Given the description of an element on the screen output the (x, y) to click on. 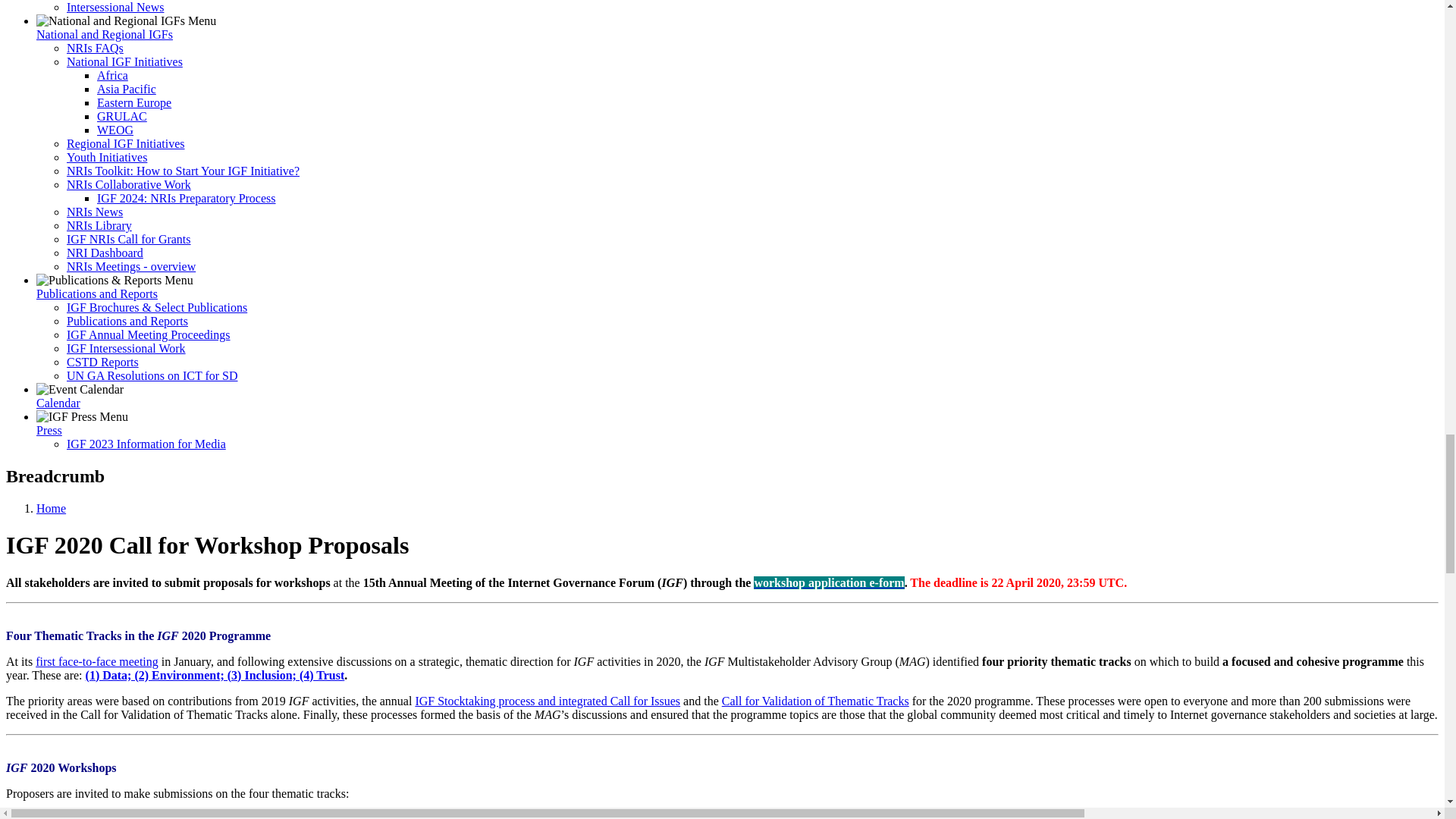
Internet Governance Forum  (583, 661)
Internet Governance Forum  (671, 582)
Internet Governance Forum  (714, 661)
Multistakeholder Advisory Group  (547, 714)
Internet Governance Forum  (16, 767)
Internet Governance Forum  (298, 700)
Internet Governance Forum  (167, 635)
Multistakeholder Advisory Group  (912, 661)
